Given the description of an element on the screen output the (x, y) to click on. 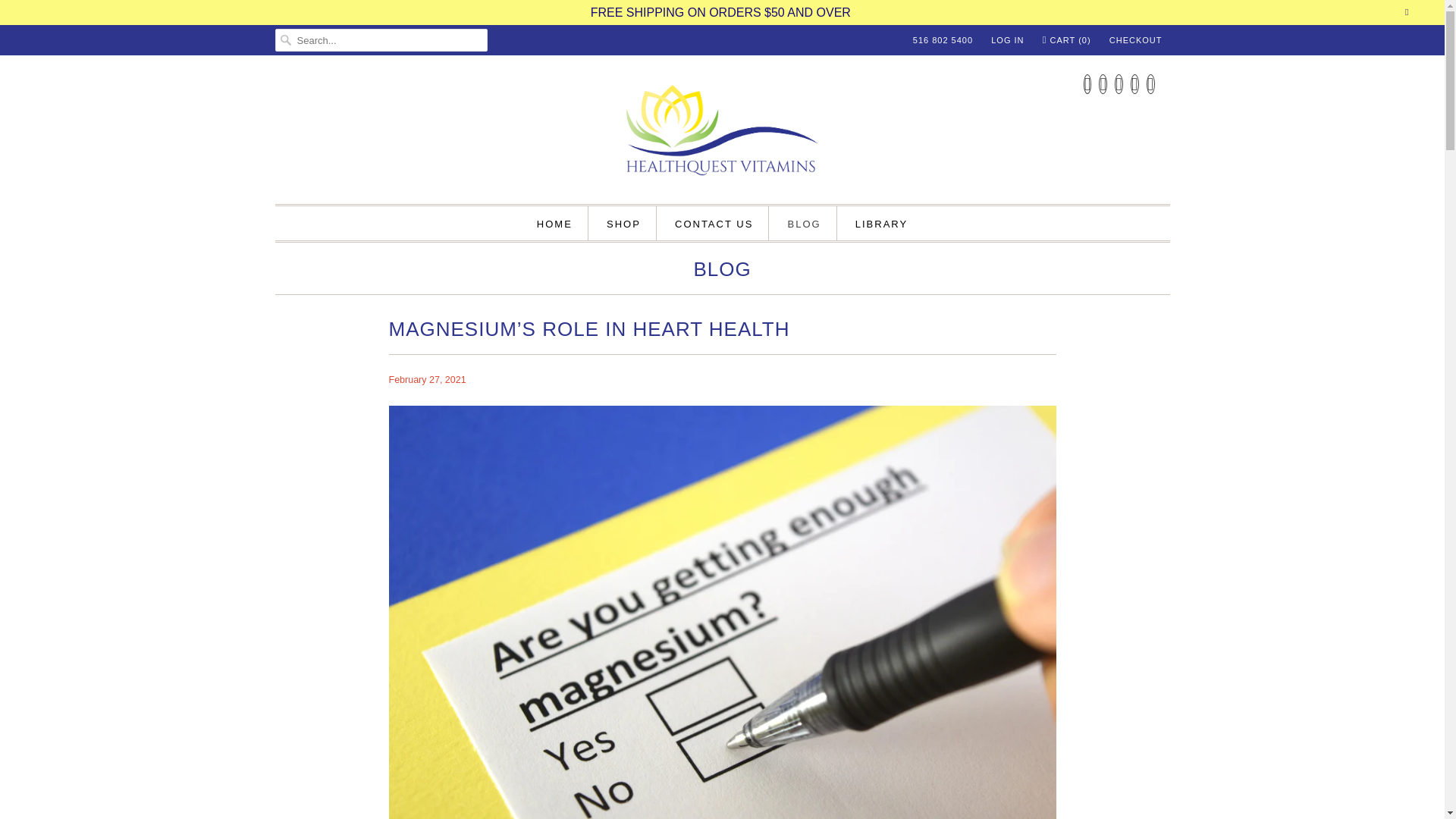
BLOG (722, 272)
LOG IN (1007, 39)
CONTACT US (713, 223)
HOME (554, 223)
LIBRARY (881, 223)
CHECKOUT (1135, 39)
SHOP (623, 223)
BLOG (804, 223)
516 802 5400 (942, 39)
Blog (722, 272)
